Given the description of an element on the screen output the (x, y) to click on. 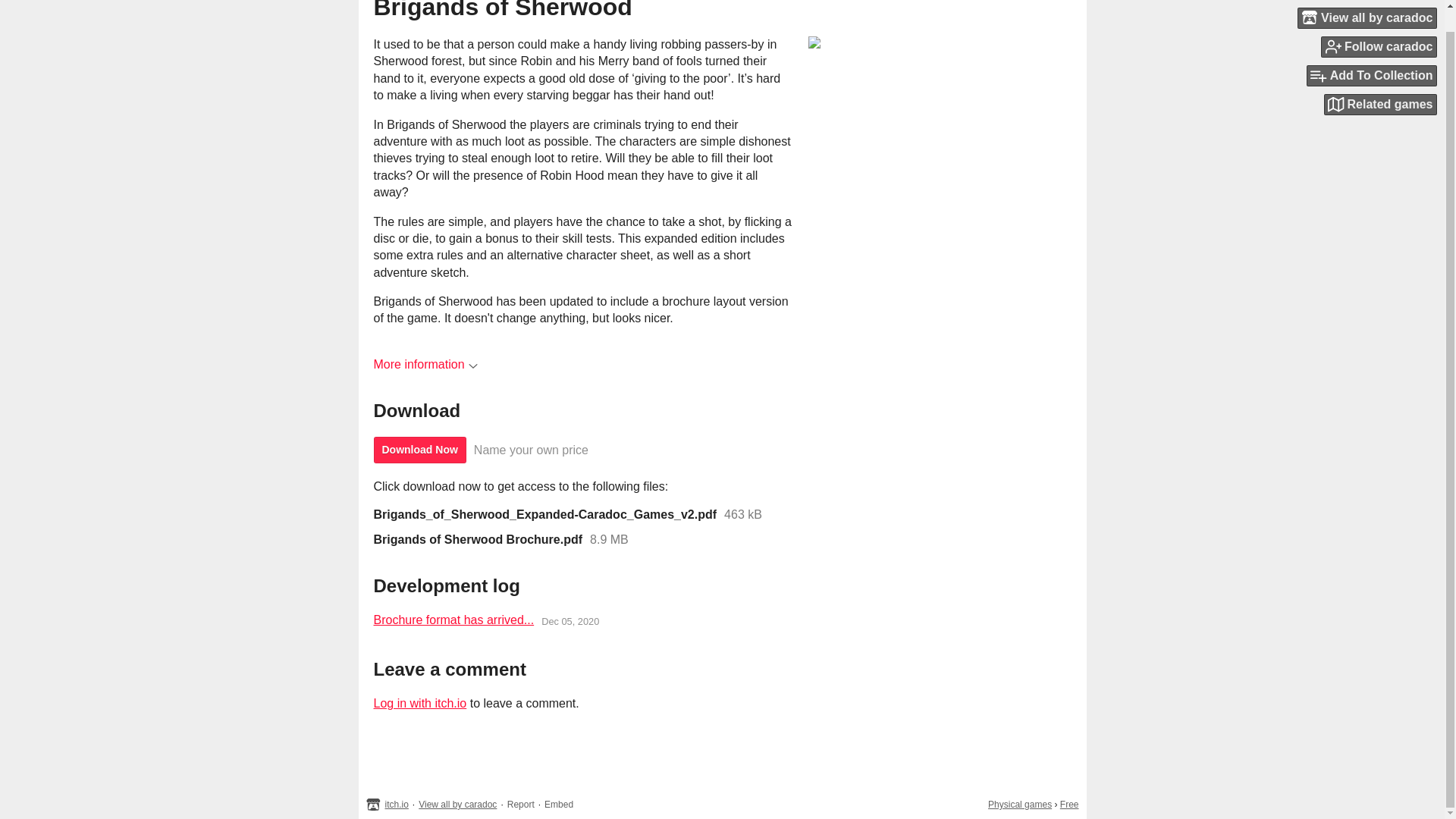
Free (1068, 804)
Related games (1380, 82)
Add To Collection (1371, 53)
More information (424, 364)
itch.io (397, 804)
Embed (558, 804)
Physical games (1019, 804)
Log in with itch.io (418, 703)
Report (520, 804)
Brigands of Sherwood Brochure.pdf (477, 540)
